Given the description of an element on the screen output the (x, y) to click on. 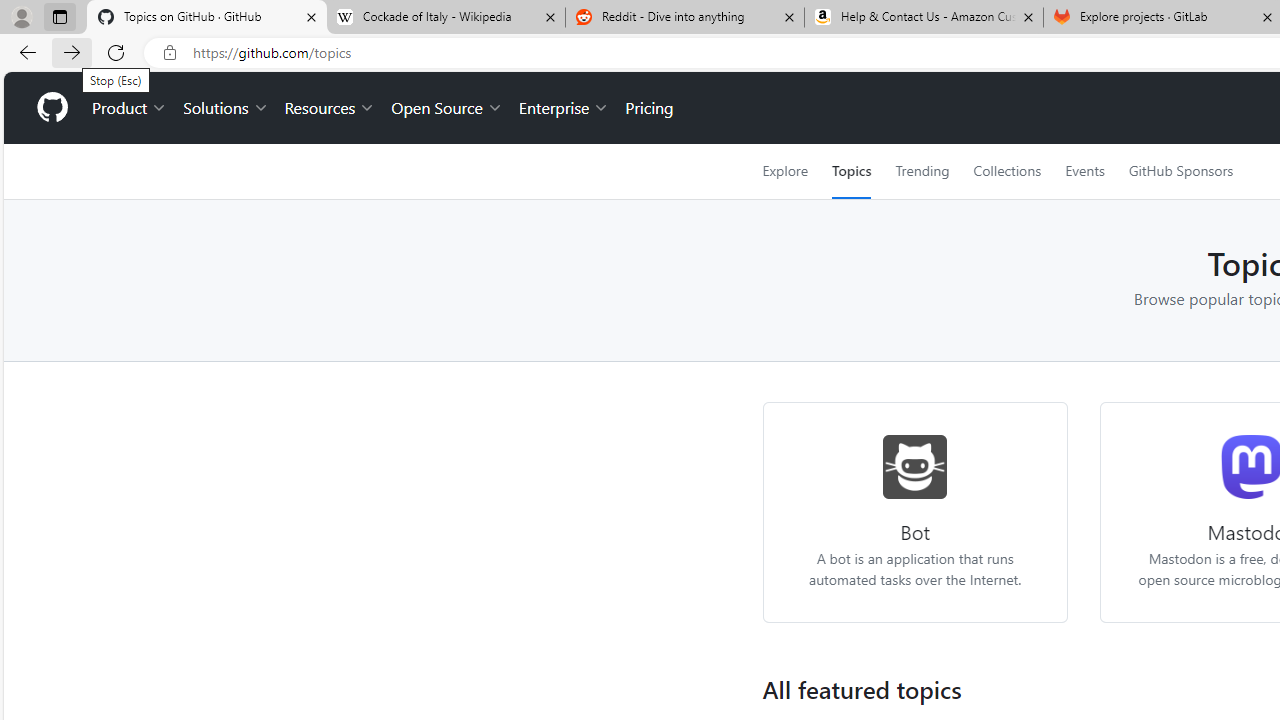
Pricing (649, 107)
Homepage (51, 107)
bot (915, 466)
Product (130, 107)
Pricing (649, 107)
Solutions (225, 107)
Solutions (225, 107)
Resources (330, 107)
Open Source (446, 107)
Product (130, 107)
GitHub Sponsors (1180, 171)
